Given the description of an element on the screen output the (x, y) to click on. 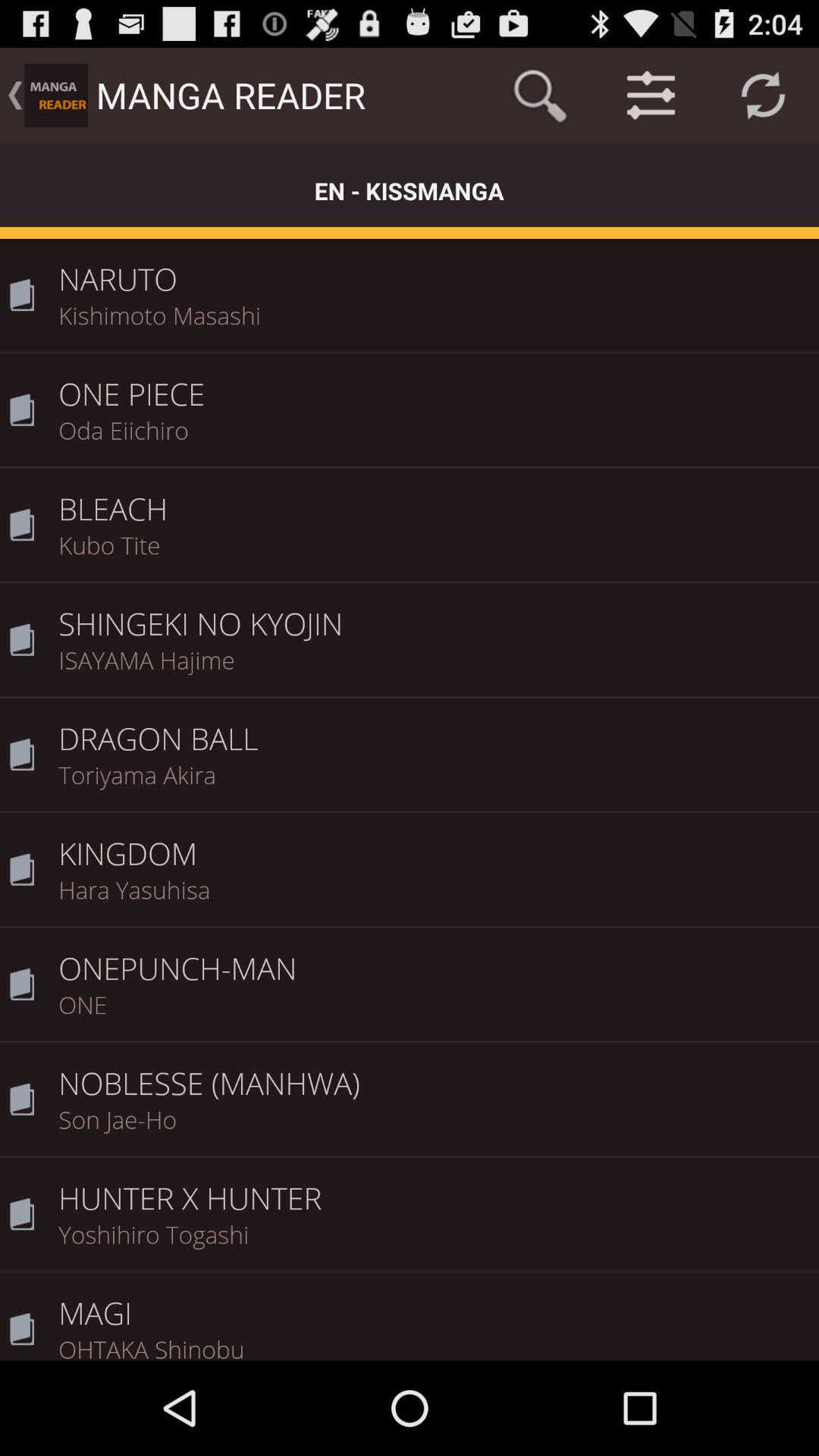
choose icon above the one piece item (433, 325)
